Given the description of an element on the screen output the (x, y) to click on. 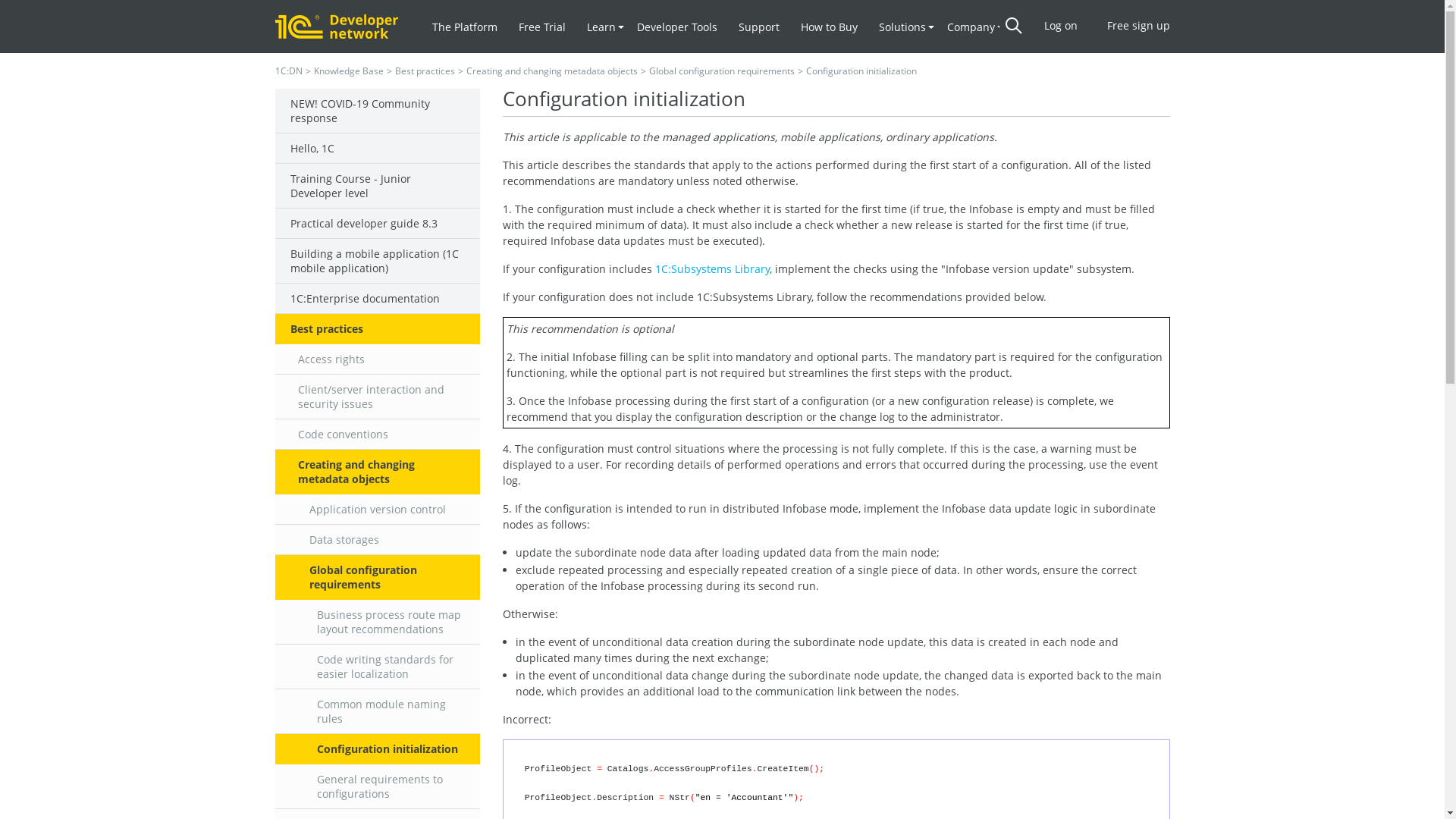
Client/server interaction and security issues Element type: text (376, 396)
Support Element type: text (758, 26)
NEW! COVID-19 Community response Element type: text (376, 110)
Application version control Element type: text (376, 509)
1C:Subsystems Library Element type: text (712, 268)
Creating and changing metadata objects Element type: text (551, 70)
Common module naming rules Element type: text (376, 711)
Data storages Element type: text (376, 539)
Training Course - Junior Developer level Element type: text (376, 185)
Company Element type: text (970, 26)
Global configuration requirements Element type: text (721, 70)
Developer Tools Element type: text (677, 26)
Free sign up Element type: text (1138, 25)
Hello, 1C Element type: text (376, 148)
General requirements to configurations Element type: text (376, 786)
Business process route map layout recommendations Element type: text (376, 621)
1C:DN Element type: text (287, 70)
Code conventions Element type: text (376, 434)
Configuration initialization Element type: text (376, 749)
1C:Enterprise documentation Element type: text (376, 298)
Code writing standards for easier localization Element type: text (376, 666)
Knowledge Base Element type: text (348, 70)
Learn Element type: text (600, 26)
The Platform Element type: text (464, 26)
Best practices Element type: text (424, 70)
Access rights Element type: text (376, 359)
Free Trial Element type: text (541, 26)
Practical developer guide 8.3 Element type: text (376, 223)
How to Buy Element type: text (828, 26)
Global configuration requirements Element type: text (376, 577)
Building a mobile application (1C mobile application) Element type: text (376, 260)
Log on Element type: text (1059, 25)
Solutions Element type: text (901, 26)
Best practices Element type: text (376, 328)
Creating and changing metadata objects Element type: text (376, 471)
